Given the description of an element on the screen output the (x, y) to click on. 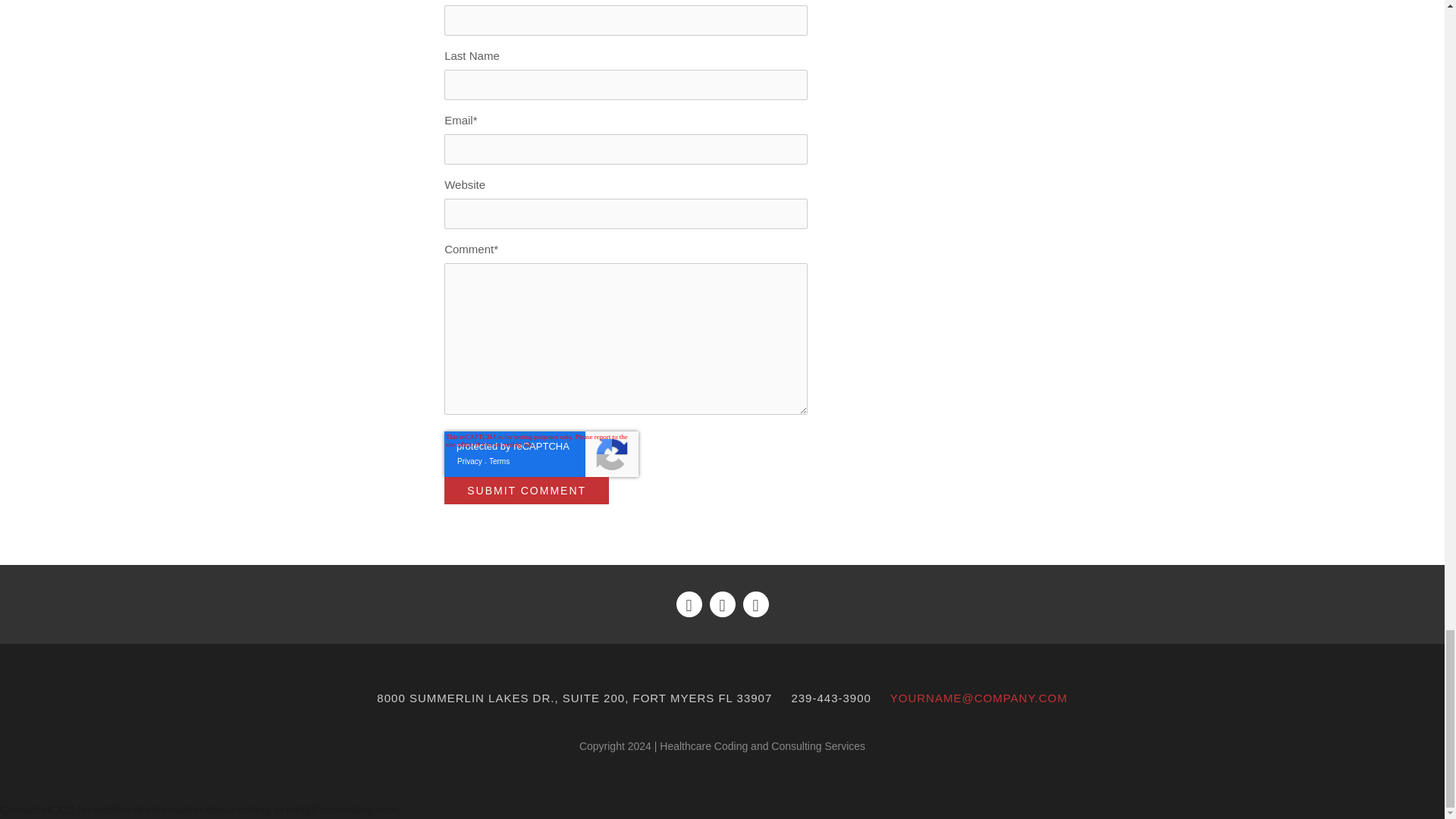
Submit Comment (526, 490)
reCAPTCHA (541, 453)
Submit Comment (526, 490)
